Given the description of an element on the screen output the (x, y) to click on. 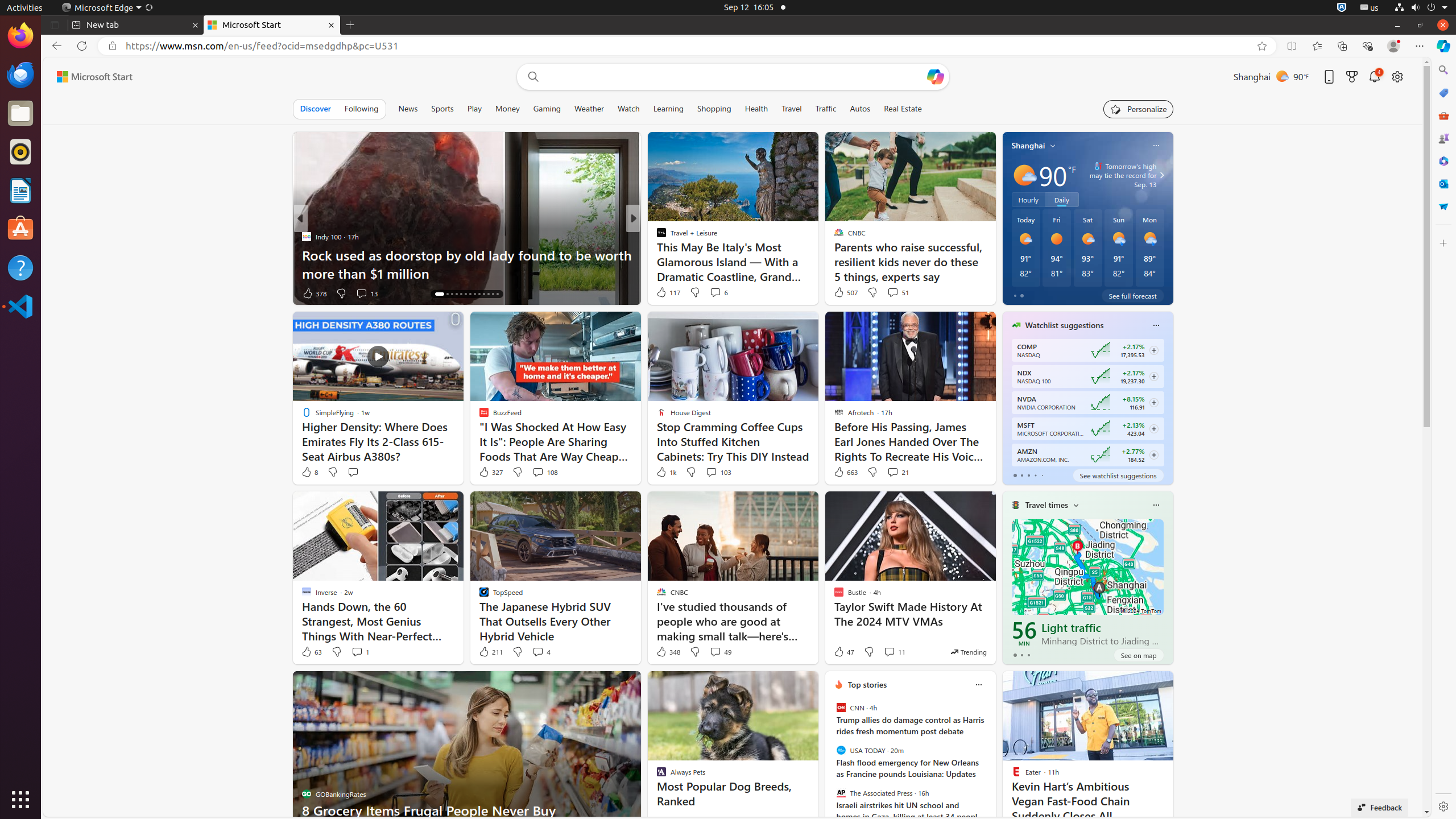
There are actually 6 types of depression and anxiety. Each should be treated differently Element type: link (816, 263)
530 Like Element type: toggle-button (664, 292)
NVDA NVIDIA CORPORATION ‎+8.15%‎ 116.91 Element type: link (1087, 402)
View comments 51 Comment Element type: push-button (892, 292)
View comments 2 Comment Element type: link (711, 292)
